Given the description of an element on the screen output the (x, y) to click on. 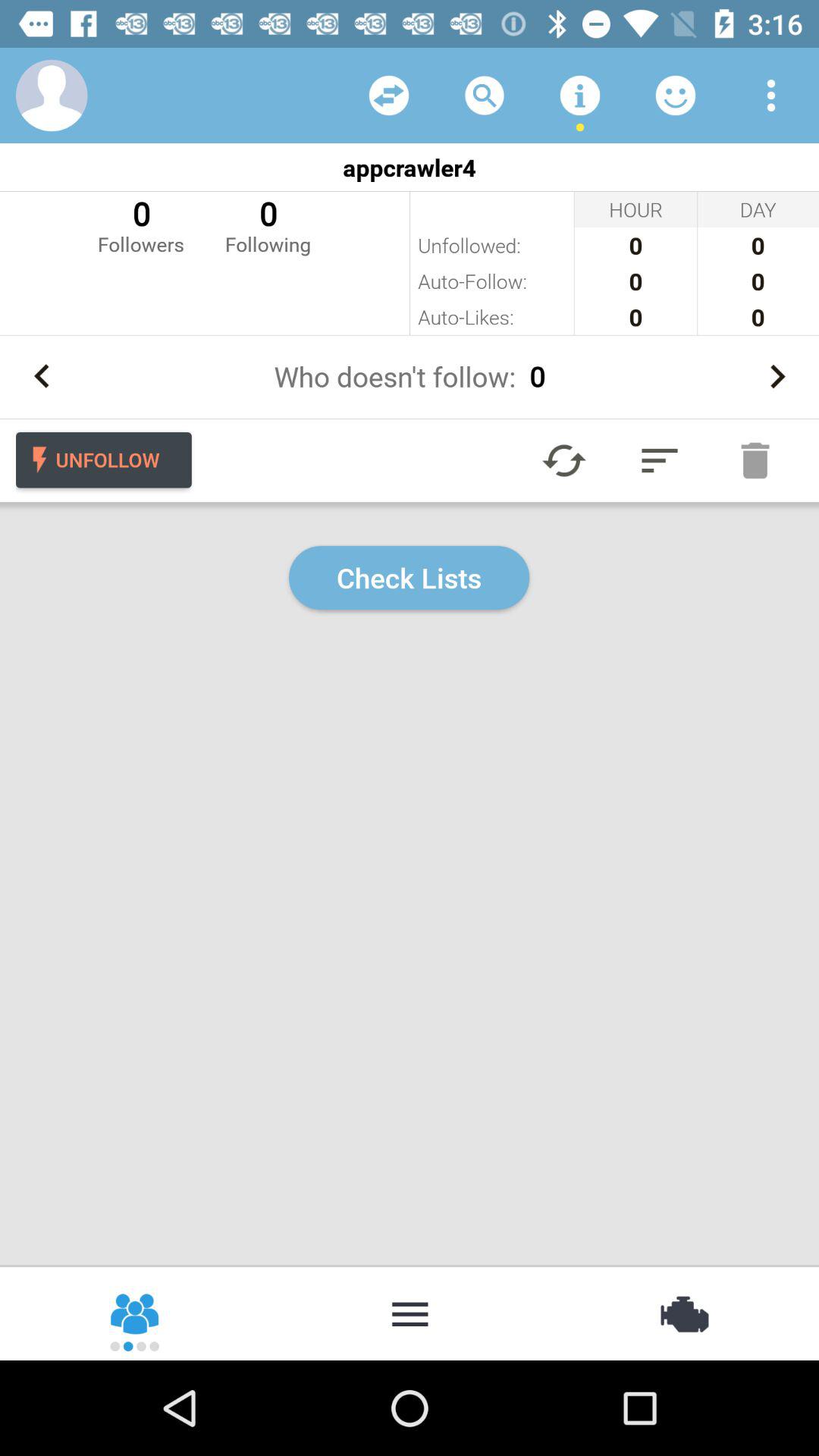
go to next page (777, 376)
